Given the description of an element on the screen output the (x, y) to click on. 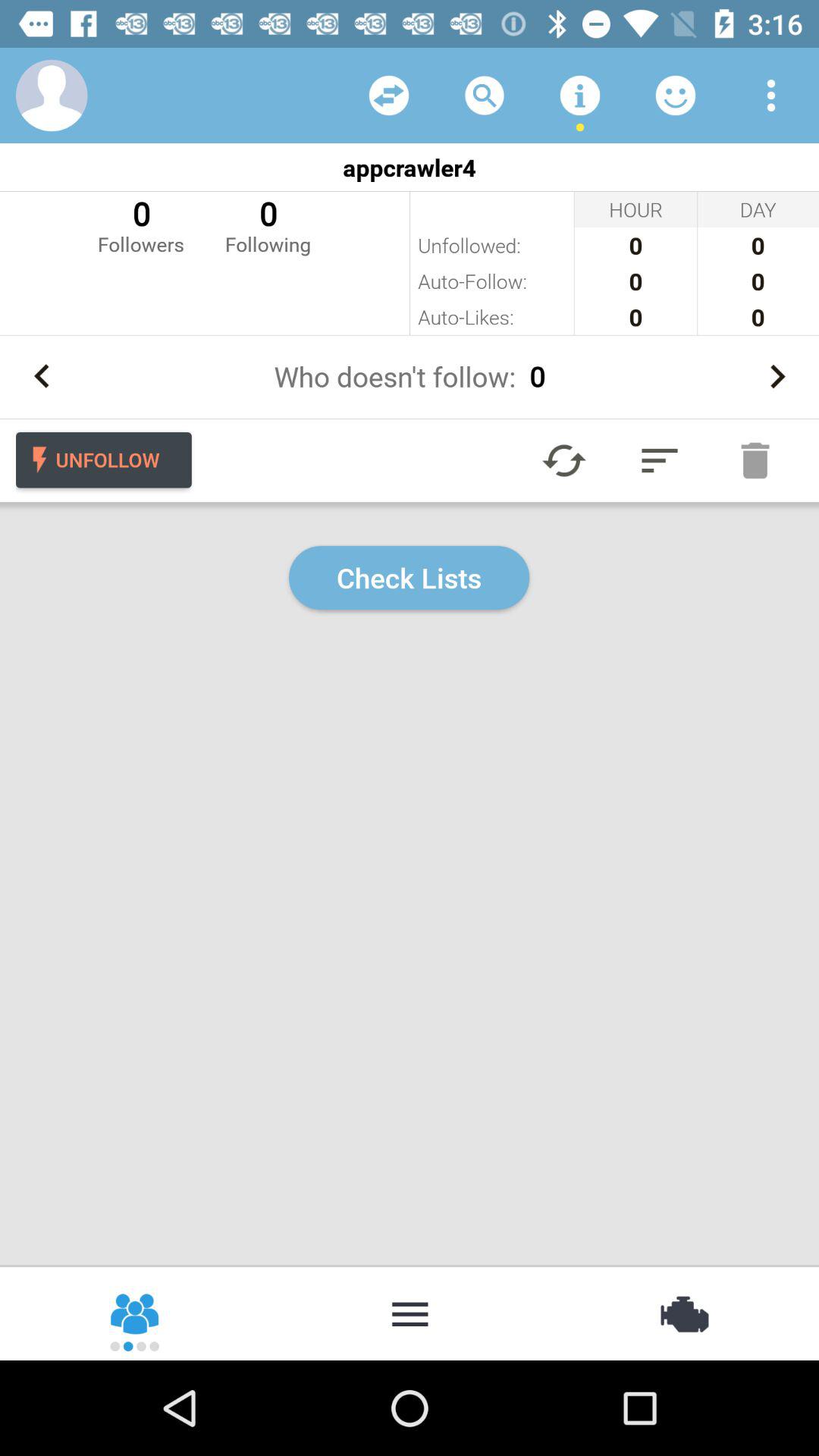
go to next page (777, 376)
